Given the description of an element on the screen output the (x, y) to click on. 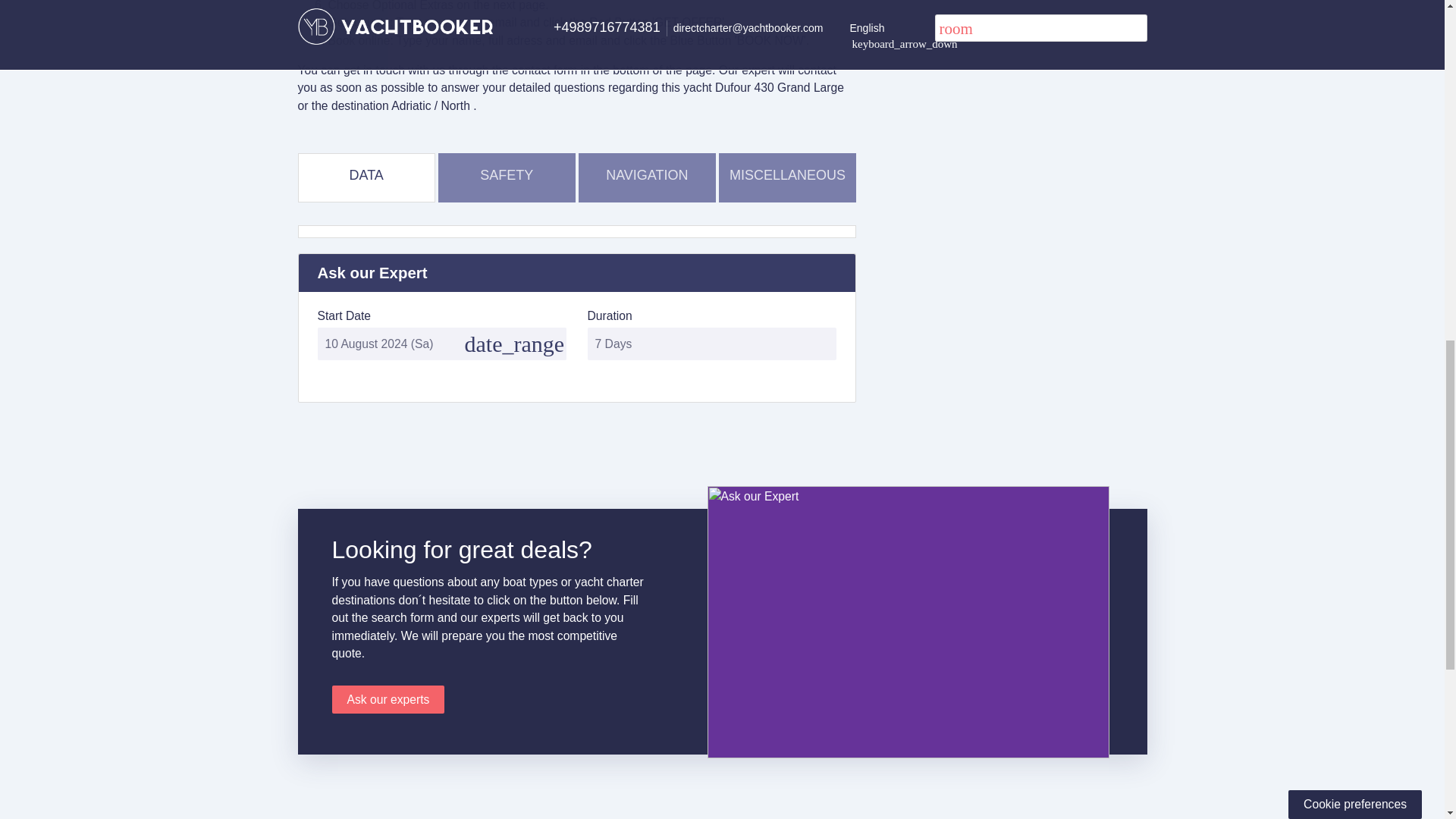
DATA (365, 174)
MISCELLANEOUS (787, 174)
Ask our experts (388, 699)
SAFETY (507, 174)
NAVIGATION (646, 174)
